Given the description of an element on the screen output the (x, y) to click on. 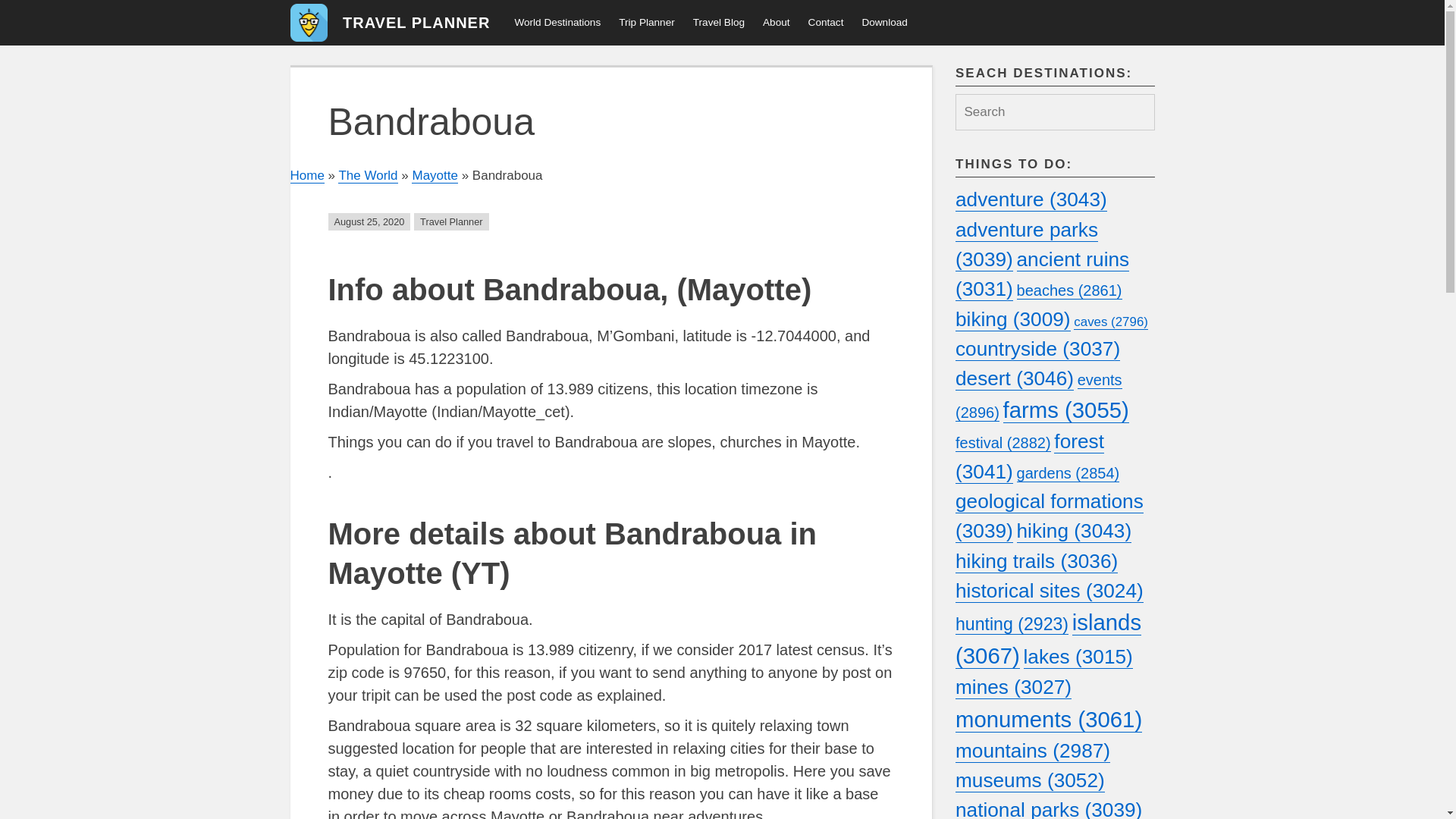
Home (306, 175)
Travel Blog (719, 22)
Contact (826, 22)
Travel Planner (450, 221)
August 25, 2020 (368, 221)
The World (367, 175)
TRAVEL PLANNER (415, 22)
Trip Planner (647, 22)
Mayotte (434, 175)
World Destinations (557, 22)
Download (883, 22)
About (776, 22)
